Given the description of an element on the screen output the (x, y) to click on. 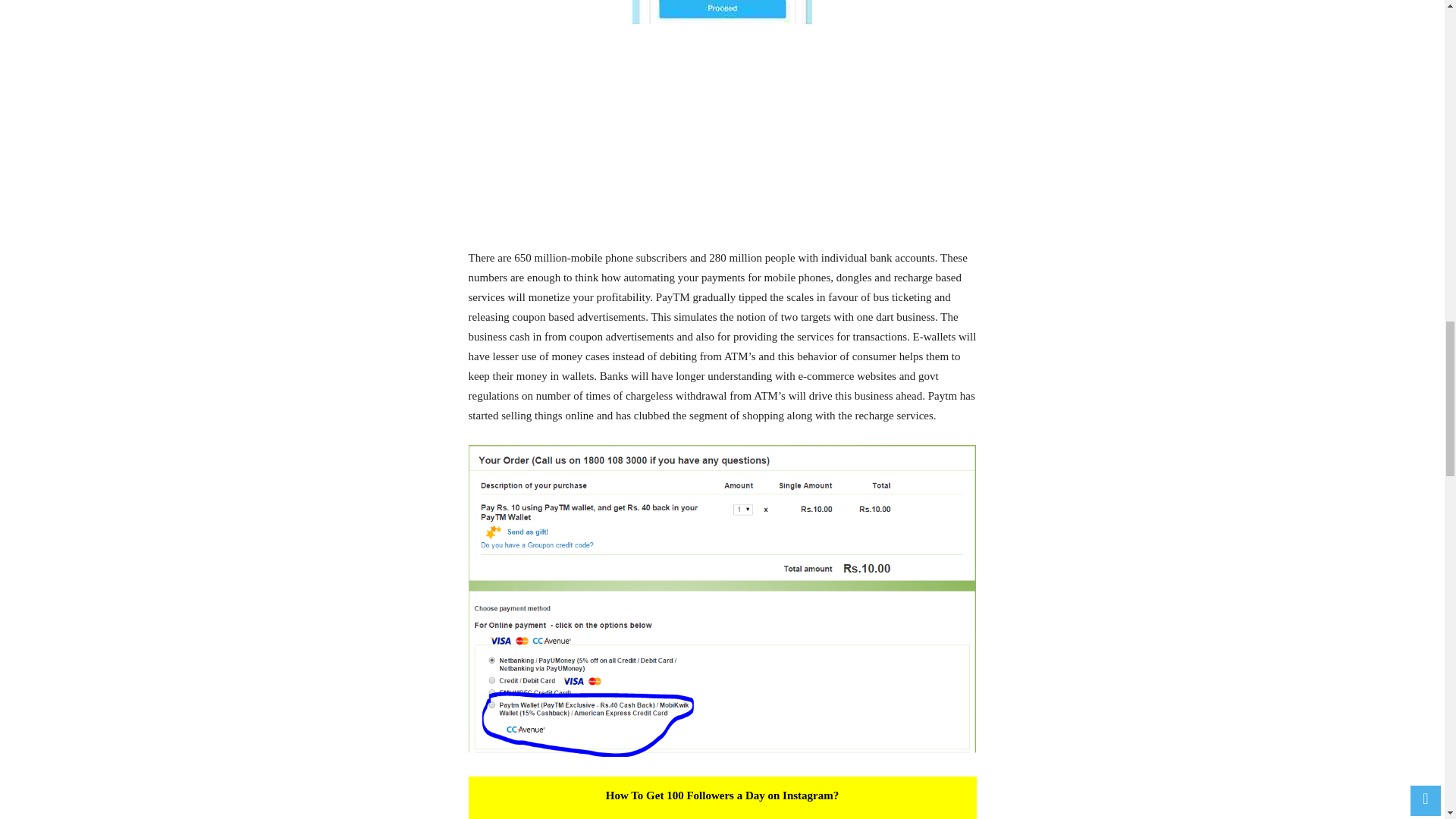
3rd party ad content (721, 141)
